Given the description of an element on the screen output the (x, y) to click on. 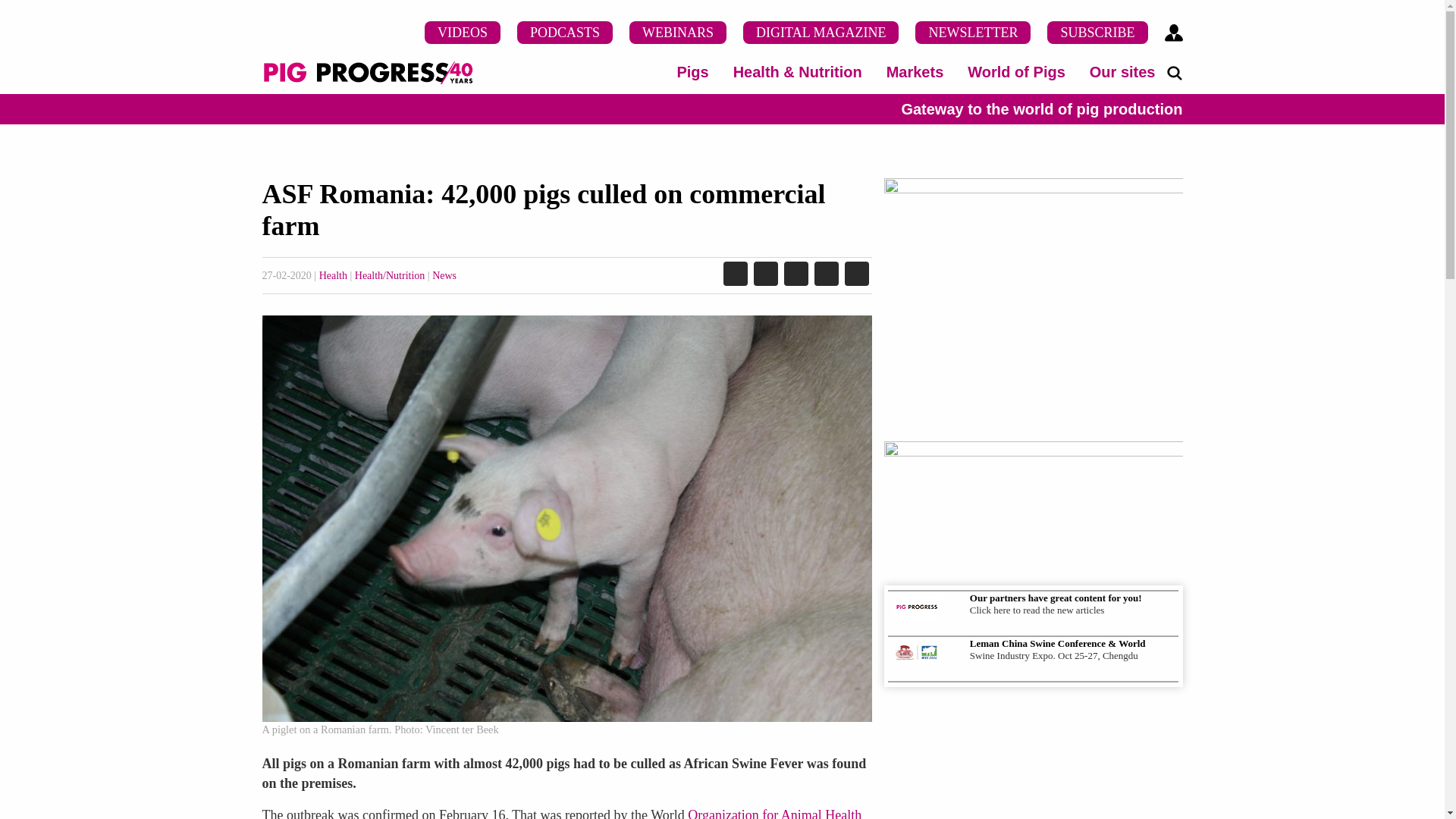
SUBSCRIBE (1096, 32)
VIDEOS (462, 32)
Print (856, 275)
PODCASTS (564, 32)
WhatsApp (825, 275)
NEWSLETTER (972, 32)
Facebook (765, 275)
LinkedIn (735, 275)
Pigs (691, 71)
WEBINARS (677, 32)
